Given the description of an element on the screen output the (x, y) to click on. 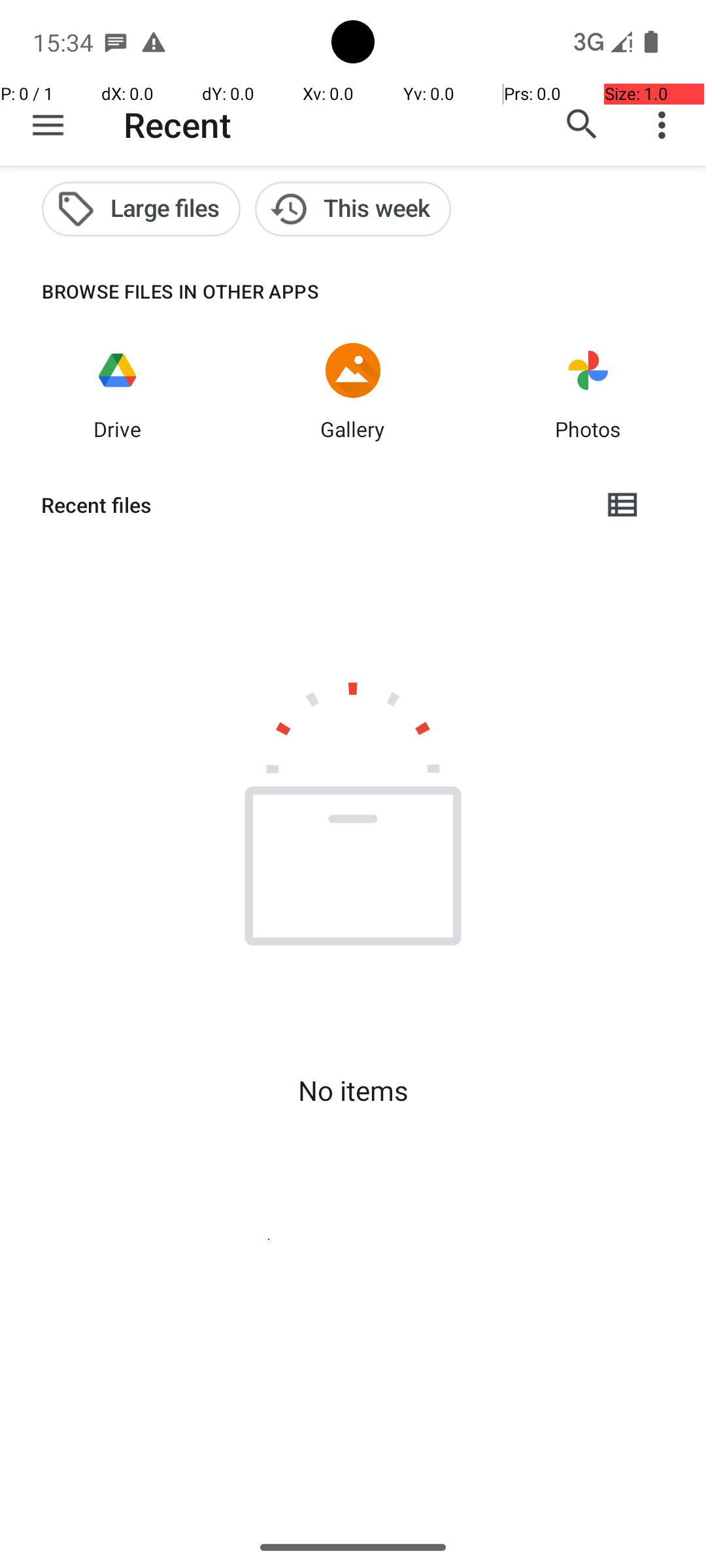
BROWSE FILES IN OTHER APPS Element type: android.widget.TextView (159, 291)
Recent files Element type: android.widget.TextView (311, 504)
